Given the description of an element on the screen output the (x, y) to click on. 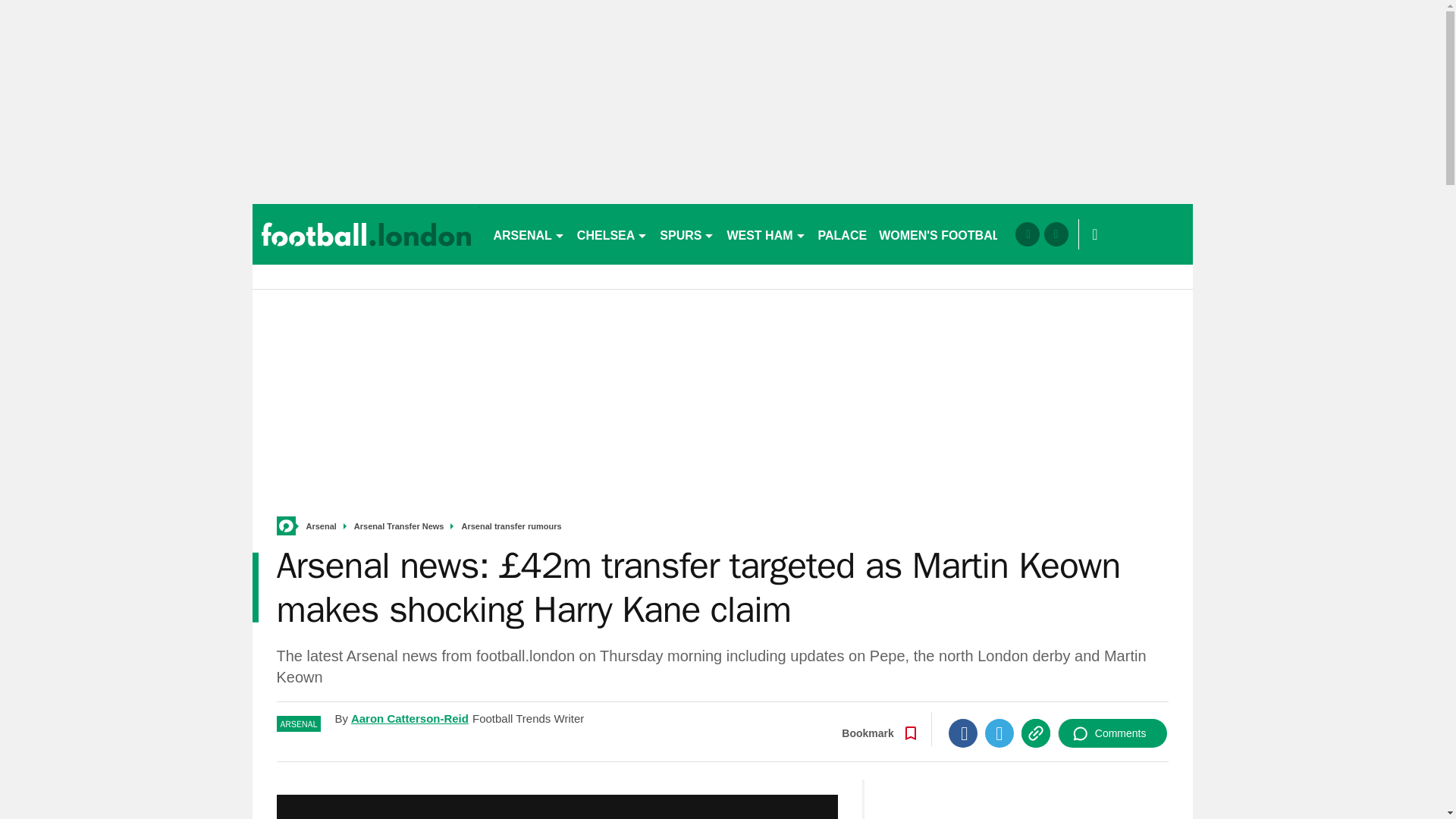
Facebook (962, 733)
twitter (1055, 233)
WOMEN'S FOOTBALL (942, 233)
Comments (1112, 733)
Twitter (999, 733)
CHELSEA (611, 233)
footballlondon (365, 233)
facebook (1026, 233)
WEST HAM (765, 233)
SPURS (686, 233)
ARSENAL (528, 233)
PALACE (842, 233)
